Given the description of an element on the screen output the (x, y) to click on. 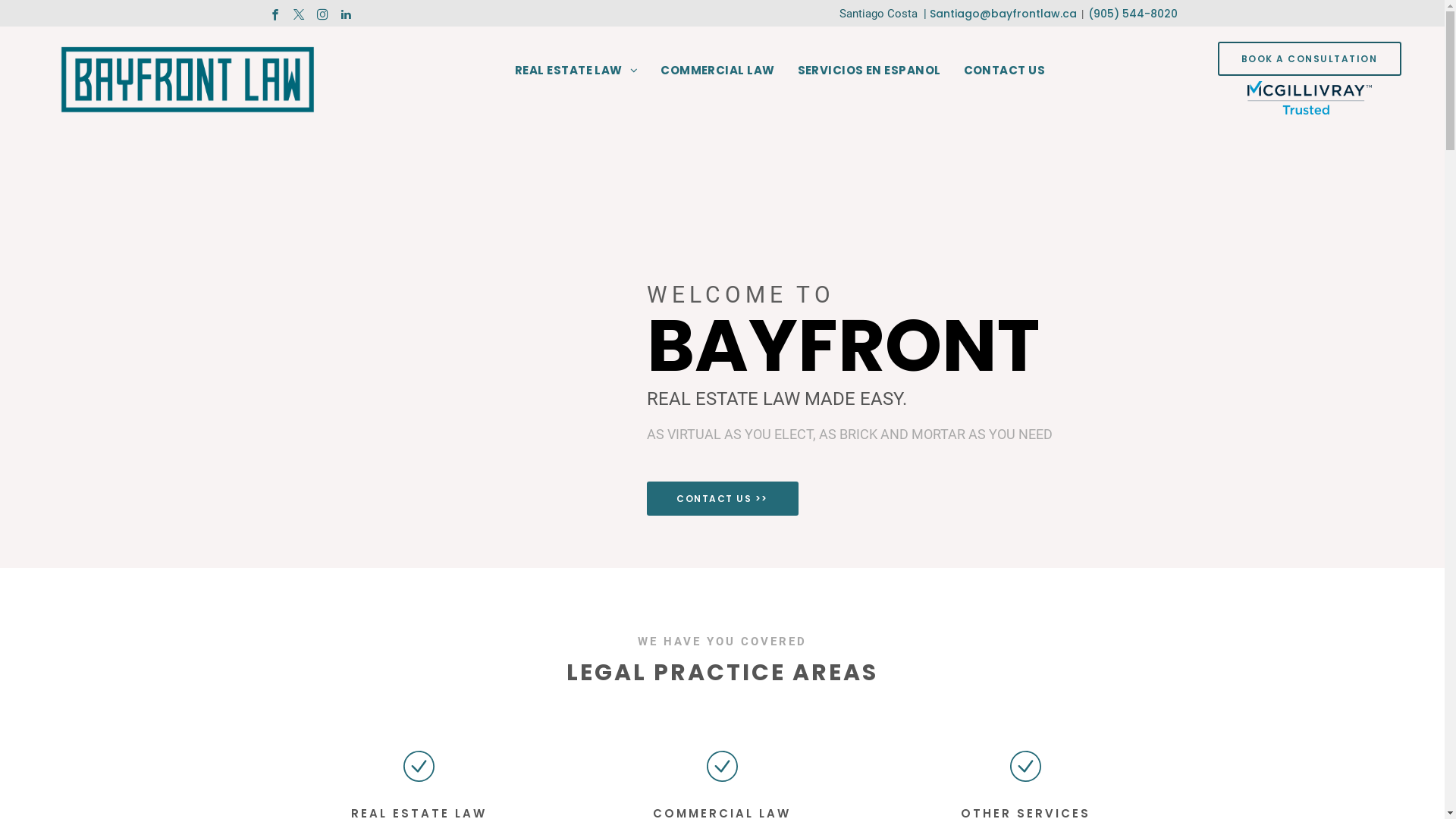
REAL ESTATE LAW Element type: text (576, 70)
BOOK A CONSULTATION Element type: text (1309, 58)
(905) 544-8020 Element type: text (1131, 13)
Santiago@bayfrontlaw.ca Element type: text (1002, 13)
COMMERCIAL LAW Element type: text (717, 70)
SERVICIOS EN ESPANOL Element type: text (869, 70)
CONTACT US >> Element type: text (721, 498)
CONTACT US Element type: text (1004, 70)
